Given the description of an element on the screen output the (x, y) to click on. 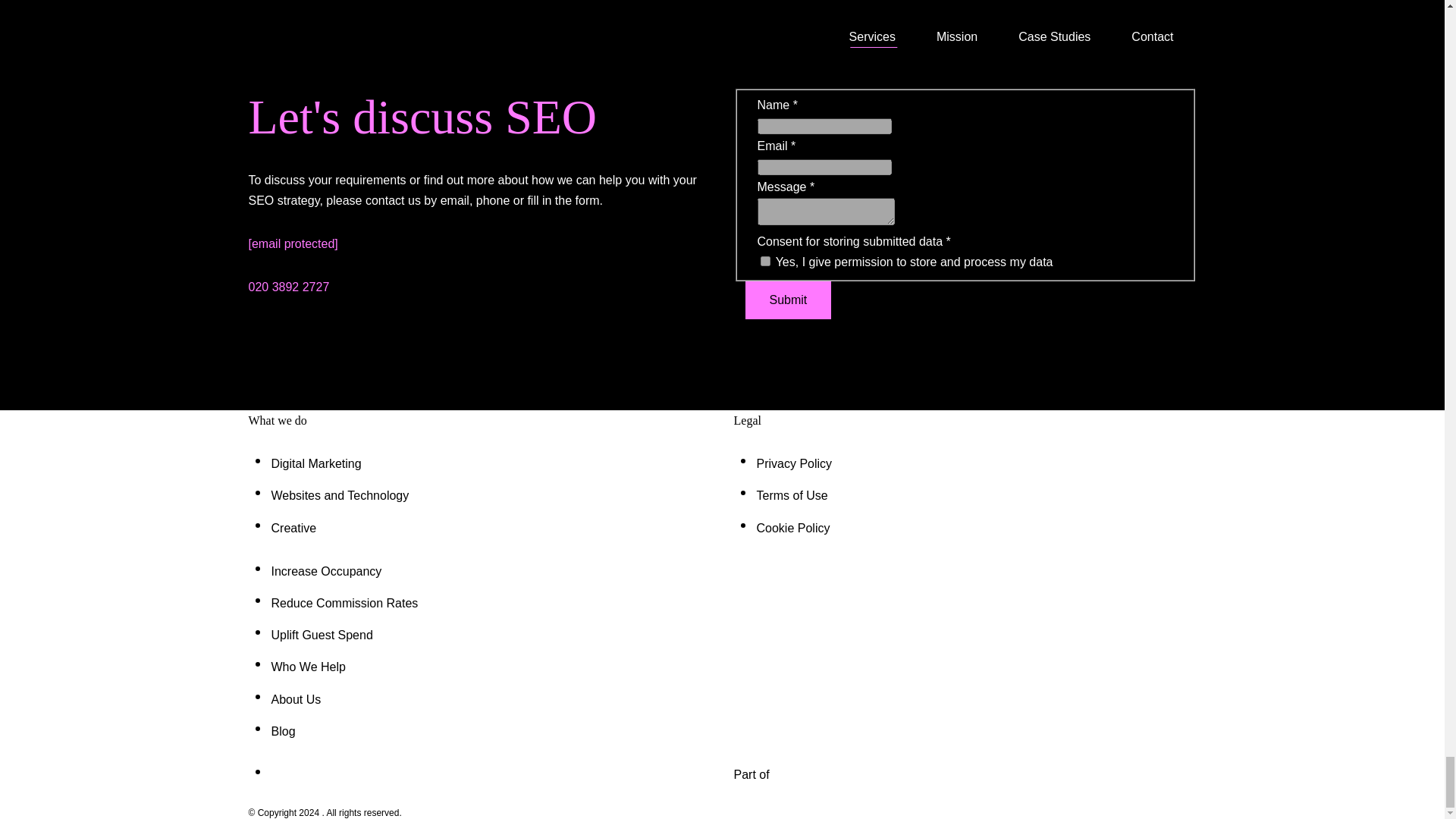
Digital Marketing (315, 463)
true (765, 261)
Increase Occupancy (325, 571)
Instagram (279, 773)
Websites and Technology (339, 495)
Creative (293, 527)
Terms of Use (792, 495)
Reduce Commission Rates (344, 603)
Submit (787, 300)
Reduce Commission Rates (344, 603)
